Given the description of an element on the screen output the (x, y) to click on. 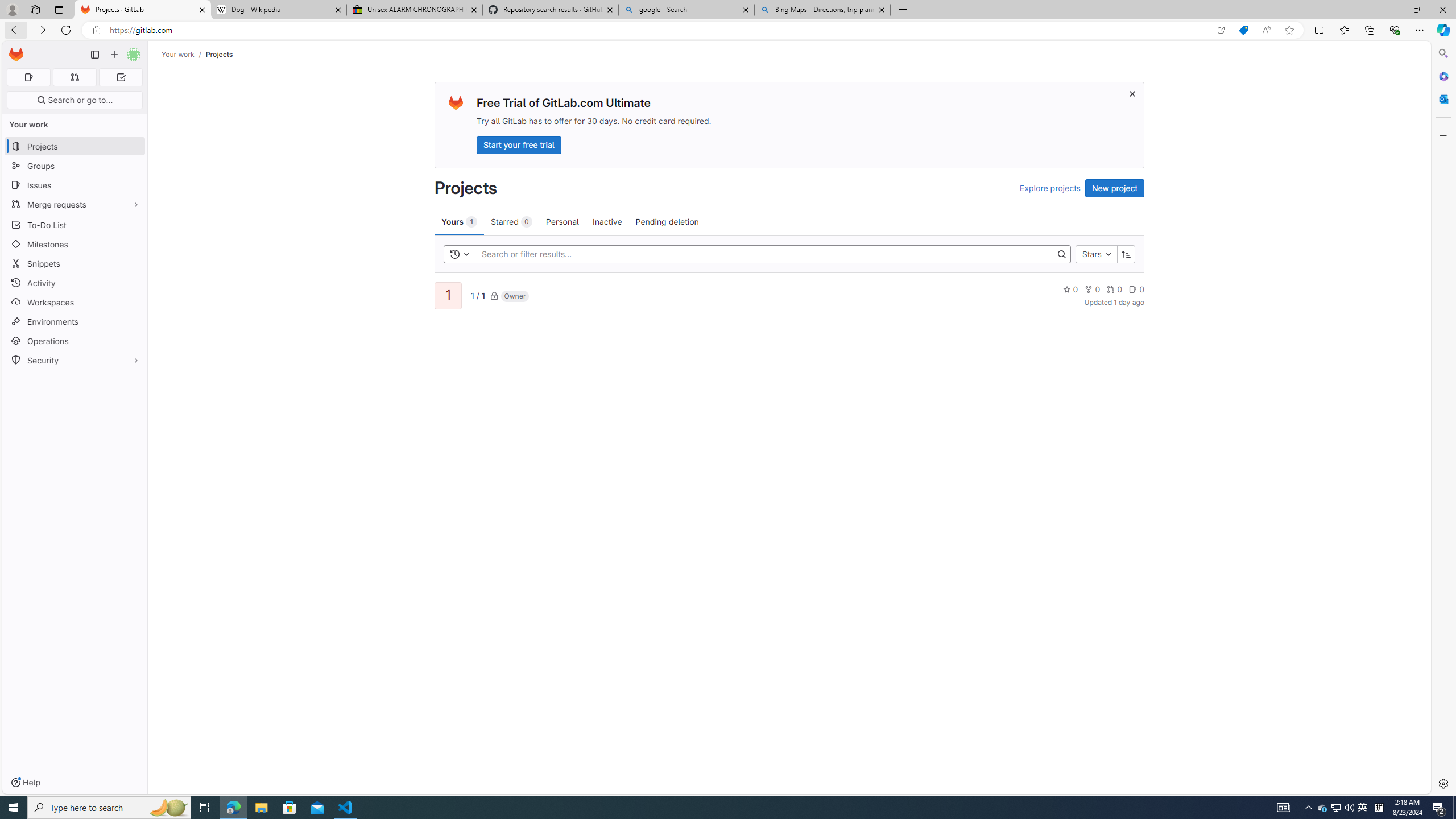
Primary navigation sidebar (94, 54)
Your work (178, 53)
1 (447, 295)
Groups (74, 165)
Snippets (74, 262)
Personal (561, 221)
Dismiss trial promotion (1131, 93)
Pending deletion (667, 221)
